Given the description of an element on the screen output the (x, y) to click on. 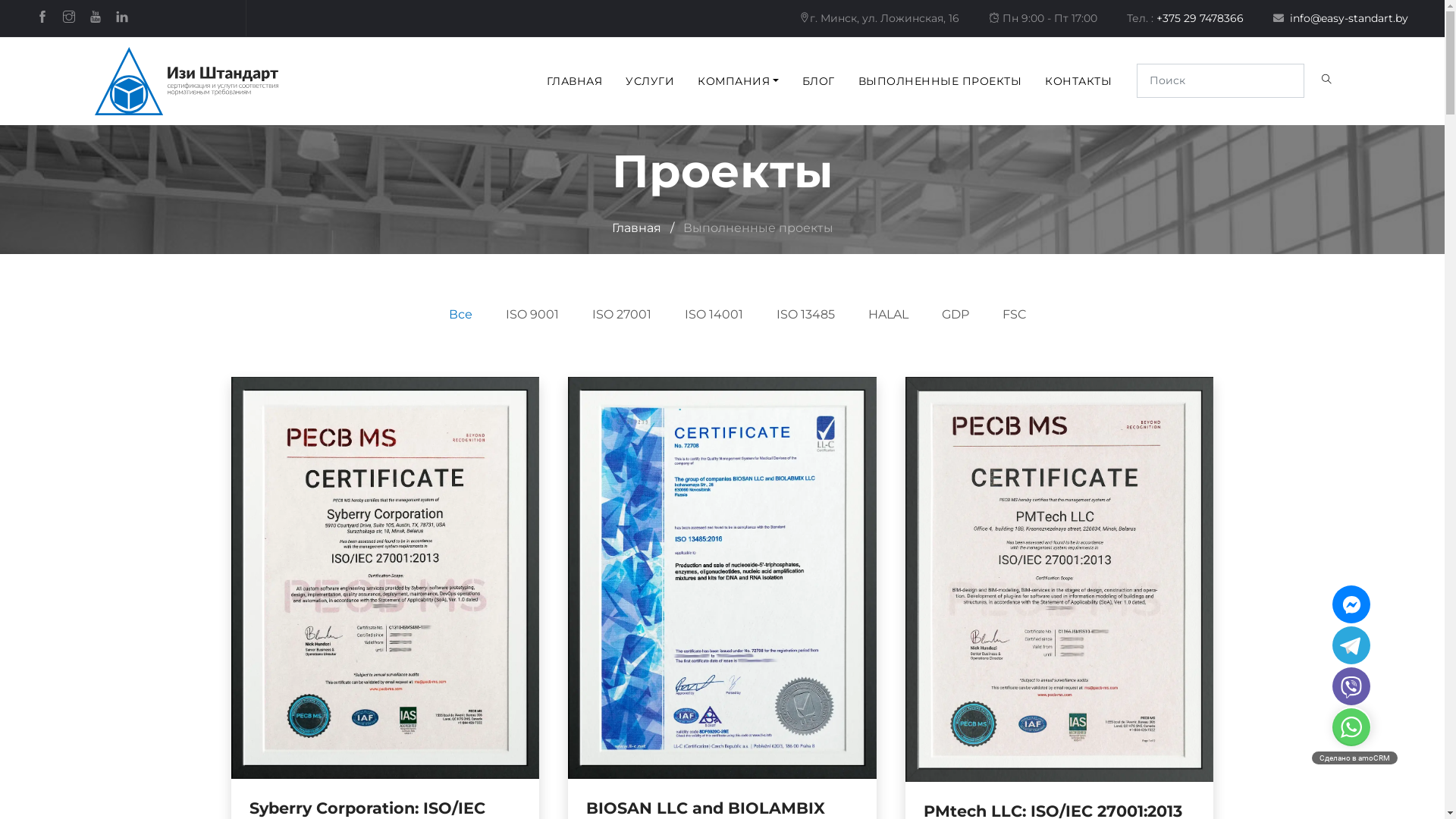
ISO 13485 Element type: text (805, 314)
ISO 9001 Element type: text (531, 314)
HALAL Element type: text (887, 314)
GDP Element type: text (955, 314)
info@easy-standart.by Element type: text (1340, 17)
FSC Element type: text (1014, 314)
ISO 27001 Element type: text (620, 314)
ISO 14001 Element type: text (712, 314)
